Given the description of an element on the screen output the (x, y) to click on. 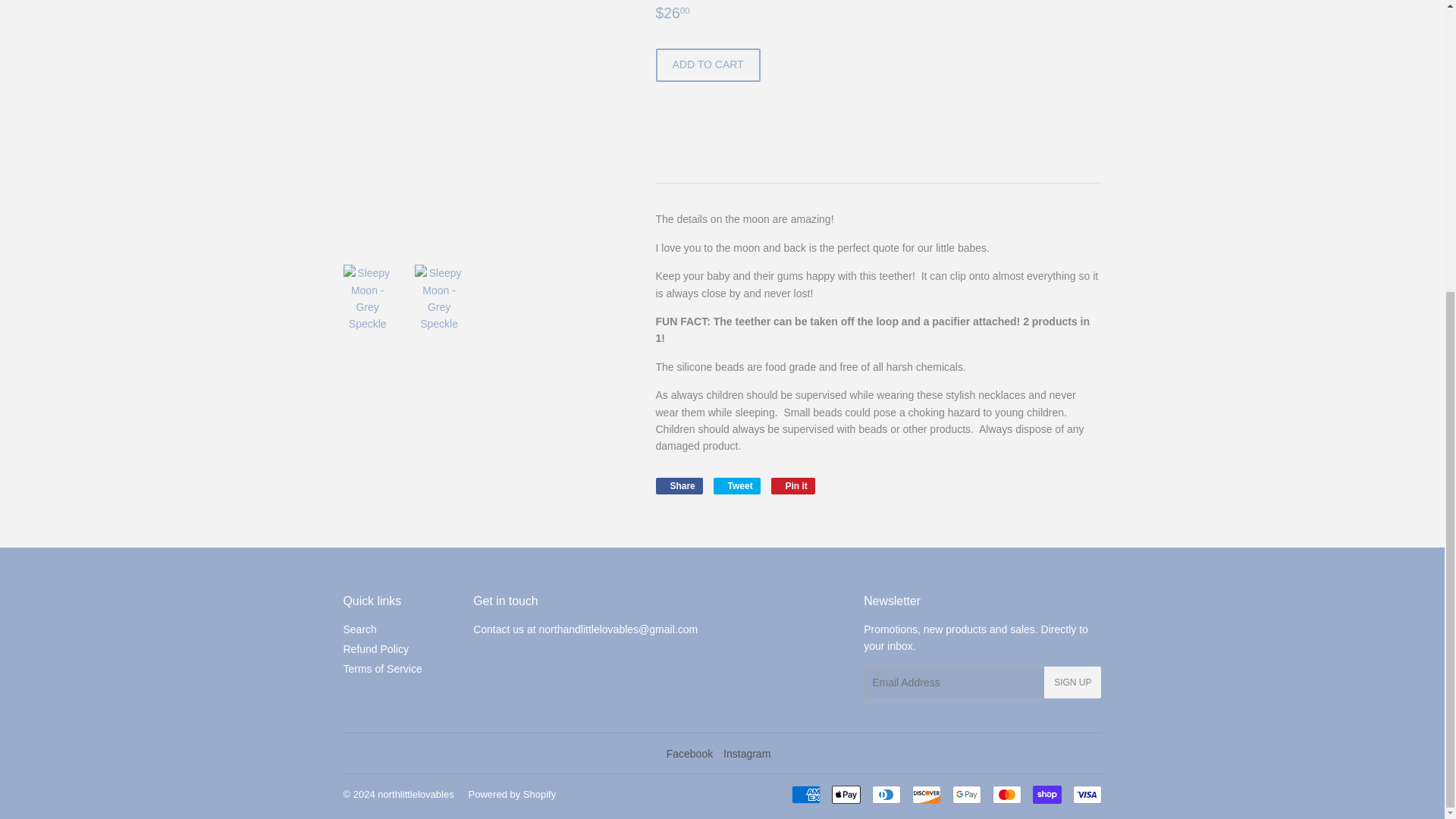
Tweet on Twitter (736, 485)
Discover (925, 794)
Diners Club (886, 794)
Google Pay (966, 794)
Share on Facebook (678, 485)
northlittlelovables on Facebook (689, 753)
Shop Pay (1046, 794)
Apple Pay (845, 794)
American Express (806, 794)
northlittlelovables on Instagram (746, 753)
